Given the description of an element on the screen output the (x, y) to click on. 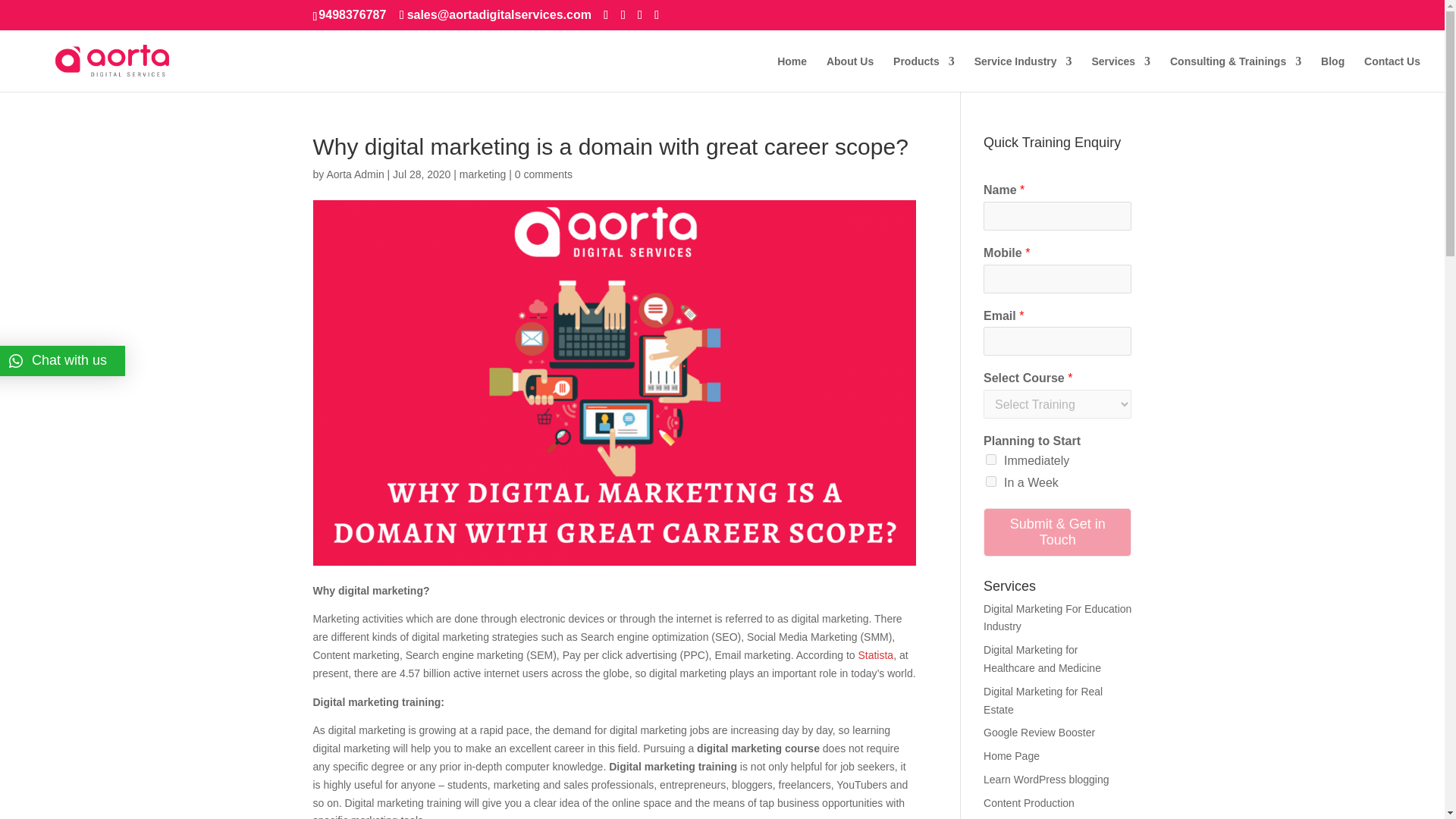
Products (924, 73)
About Us (850, 73)
Immediately (990, 459)
Service Industry (1022, 73)
Home (791, 73)
Blog (1331, 73)
Services (1120, 73)
In a Week (990, 480)
Posts by Aorta Admin (355, 174)
